Given the description of an element on the screen output the (x, y) to click on. 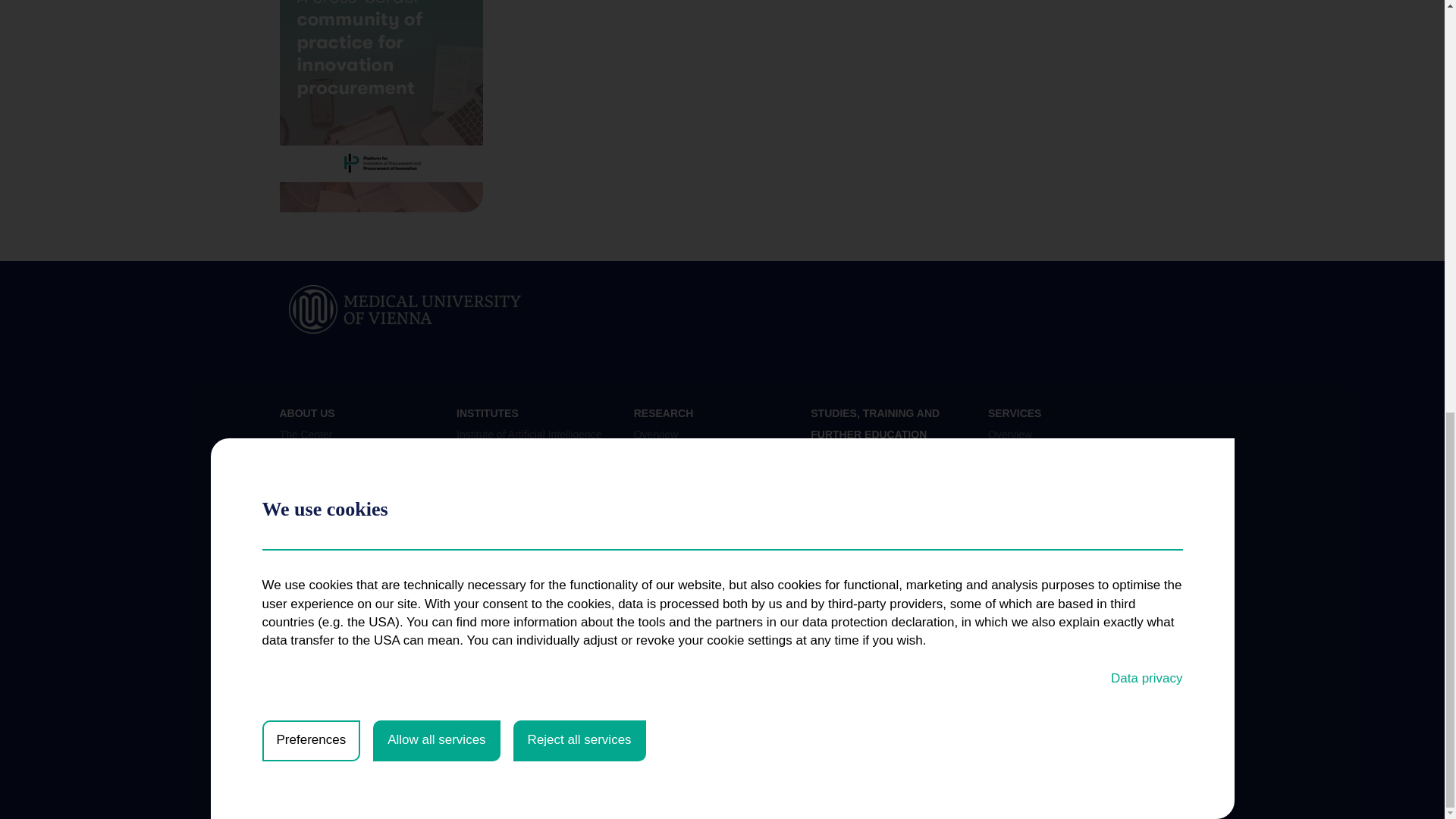
Click to open the leaflet (380, 106)
Medical University of Vienna (404, 309)
The Center (305, 434)
Medical University of Vienna (404, 308)
News (292, 458)
Open Positions (314, 508)
Staff Members (313, 482)
